Given the description of an element on the screen output the (x, y) to click on. 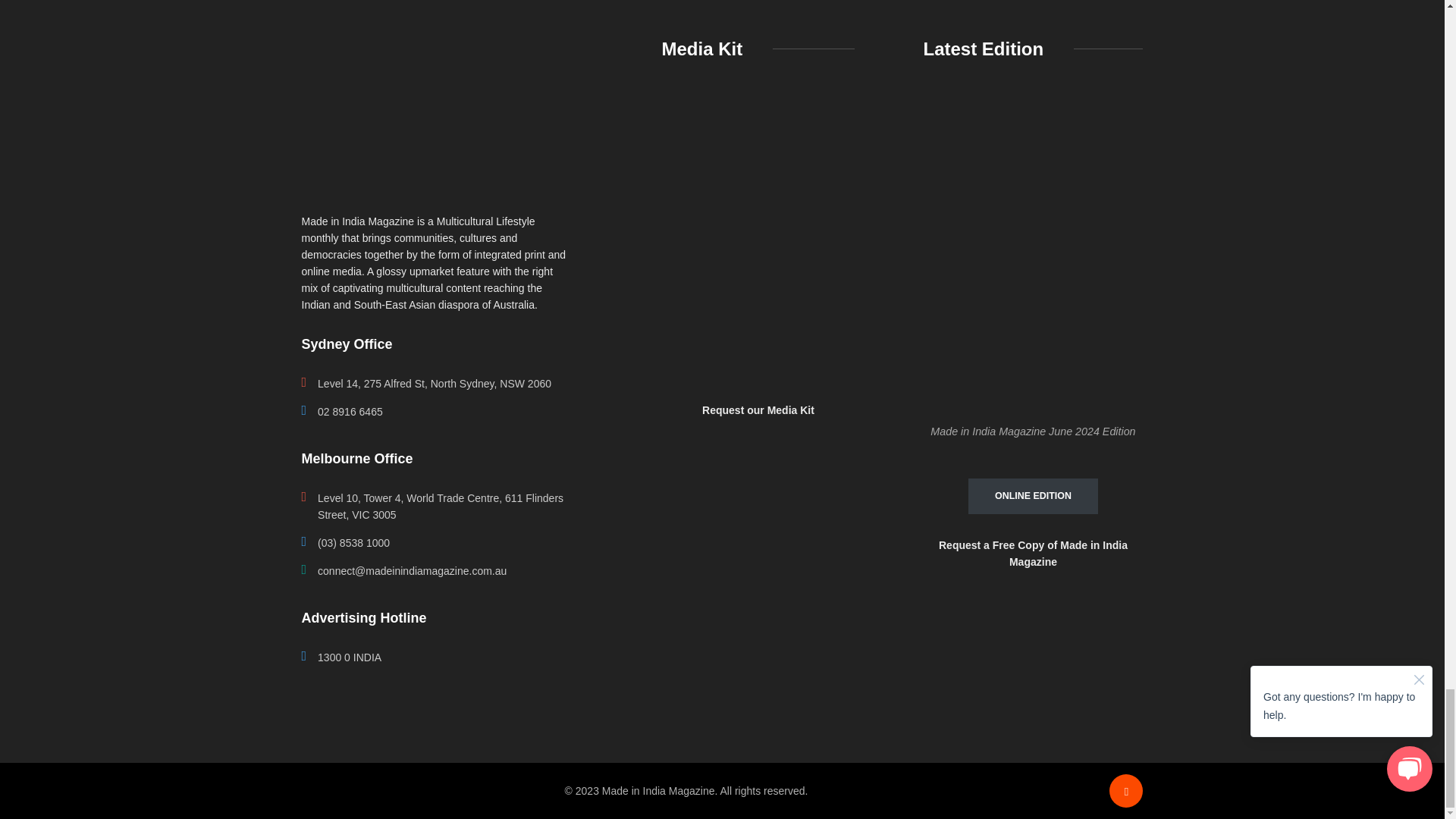
Latest Edition (1032, 252)
Media Kit (757, 234)
